Given the description of an element on the screen output the (x, y) to click on. 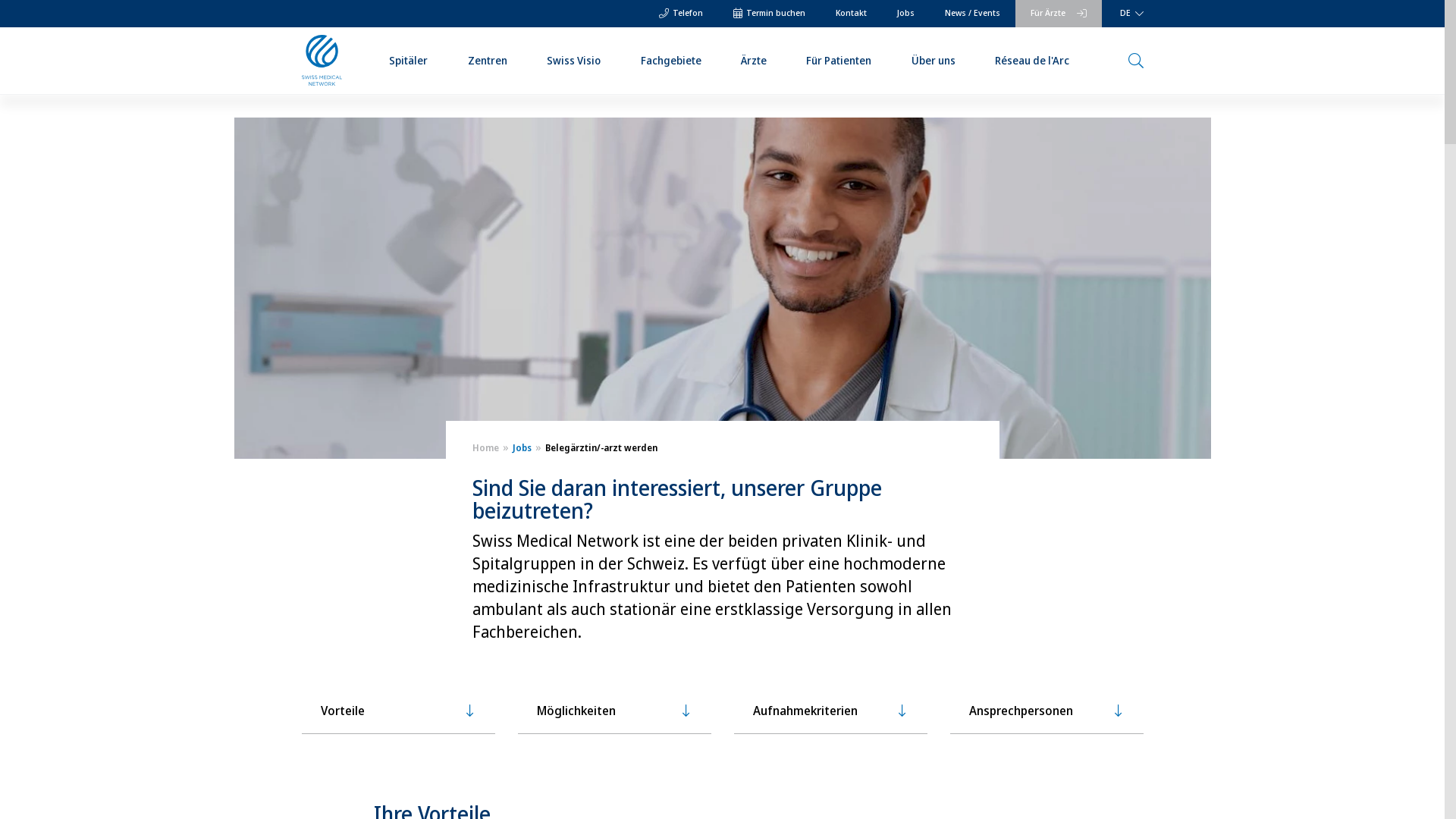
Aufnahmekriterien Element type: text (830, 710)
DE Element type: text (1129, 13)
Ansprechpersonen Element type: text (1045, 710)
Home Element type: text (484, 447)
Jobs Element type: text (519, 447)
Vorteile Element type: text (398, 710)
